Given the description of an element on the screen output the (x, y) to click on. 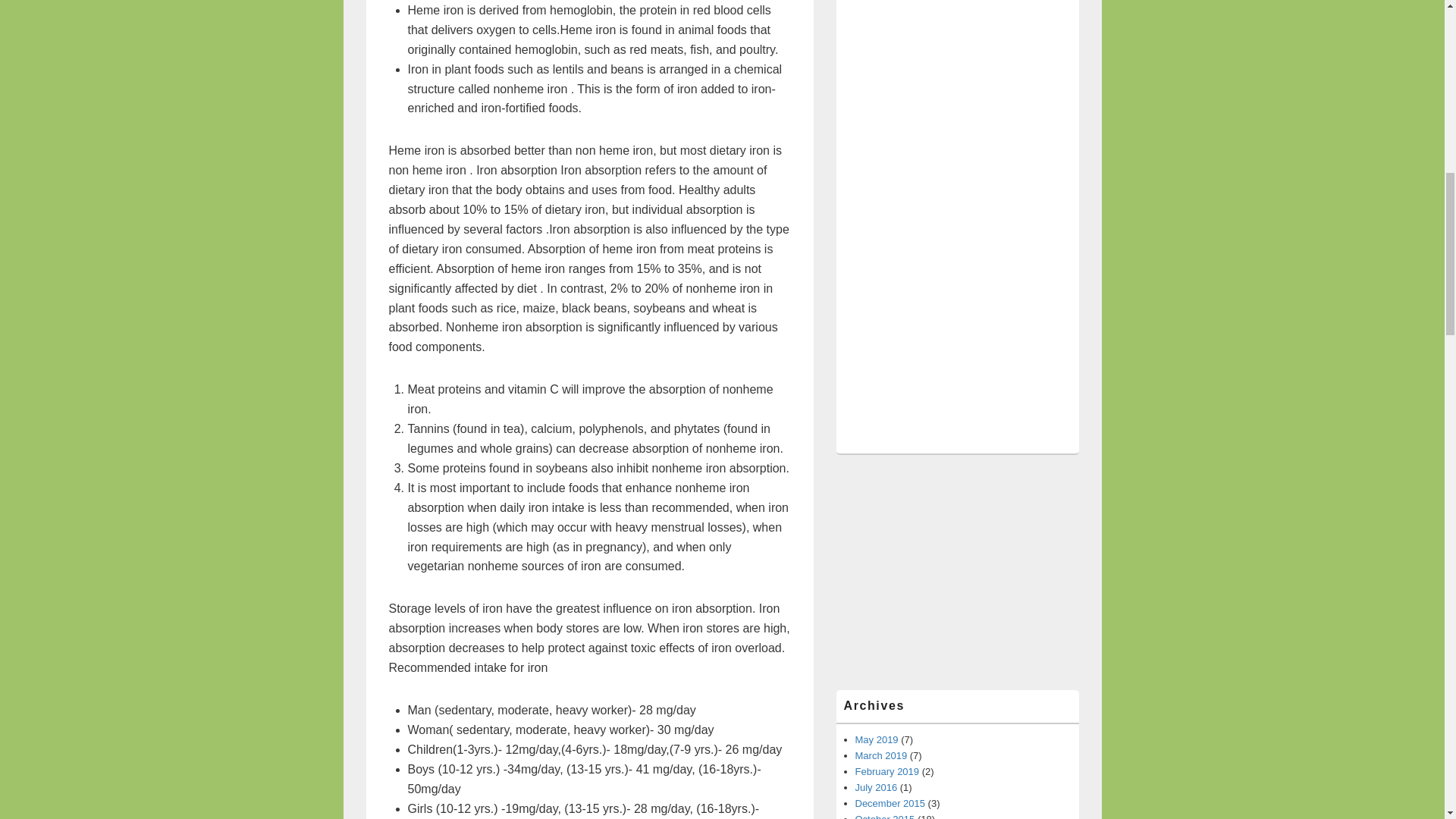
Advertisement (956, 572)
May 2019 (877, 739)
